Given the description of an element on the screen output the (x, y) to click on. 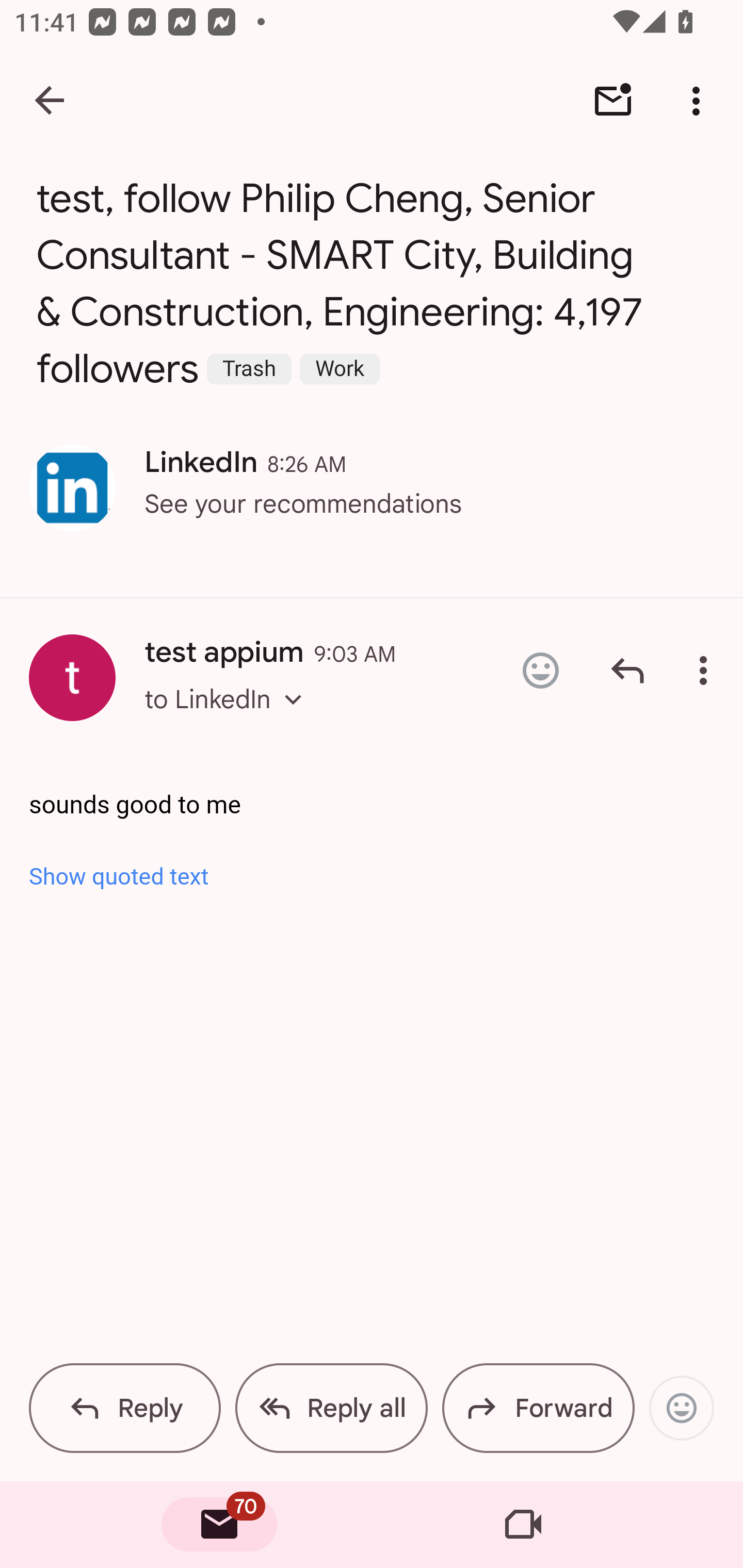
Navigate up (50, 101)
Mark unread (612, 101)
More options (699, 101)
Show contact information for LinkedIn (71, 488)
Add emoji reaction (540, 670)
Reply (626, 670)
More options (706, 670)
Show contact information for test appium (71, 678)
to LinkedIn (229, 717)
Reply (124, 1407)
Reply all (331, 1407)
Forward (538, 1407)
Add emoji reaction (681, 1407)
Meet (523, 1524)
